Given the description of an element on the screen output the (x, y) to click on. 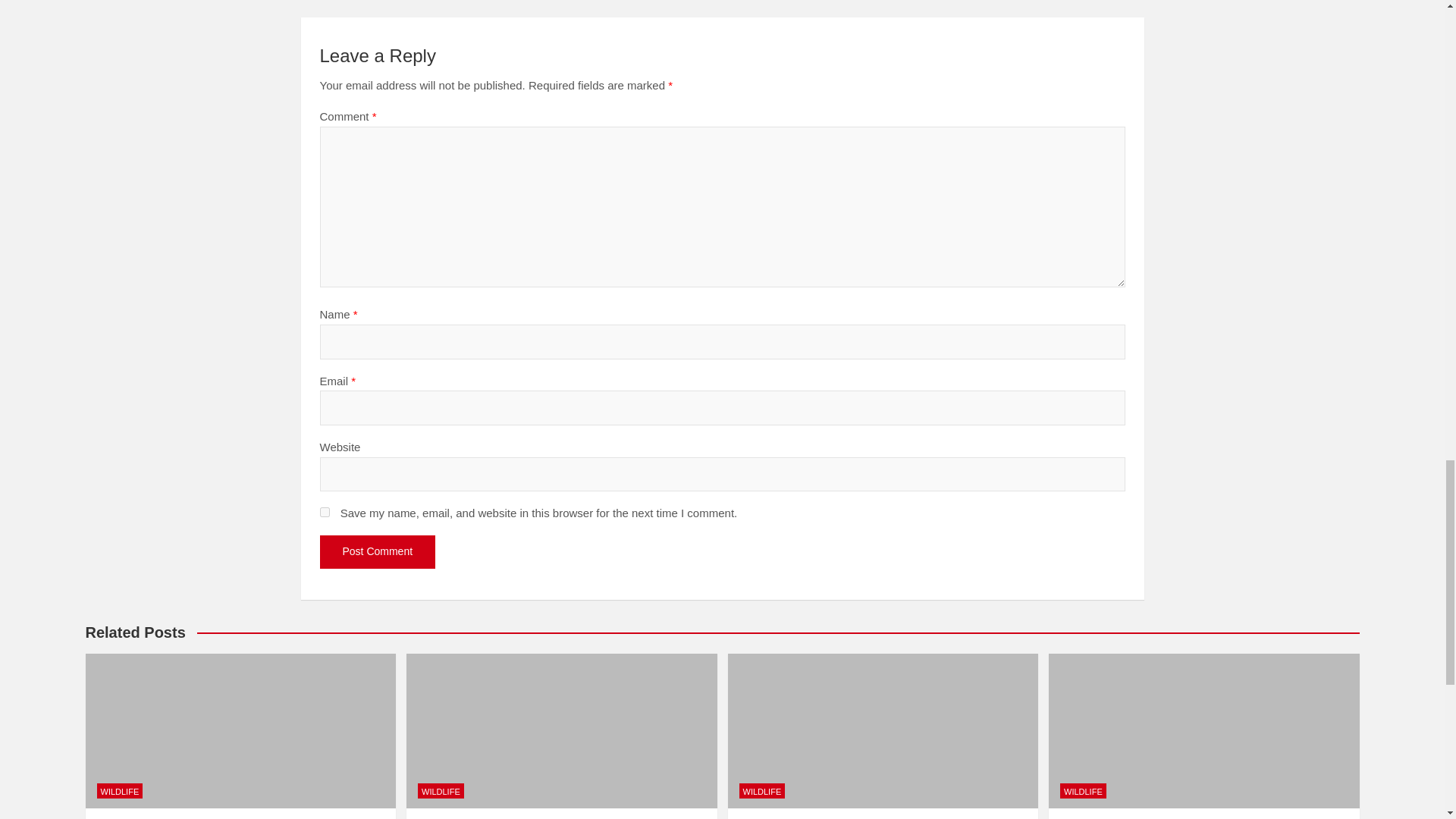
Post Comment (377, 551)
yes (325, 511)
